Given the description of an element on the screen output the (x, y) to click on. 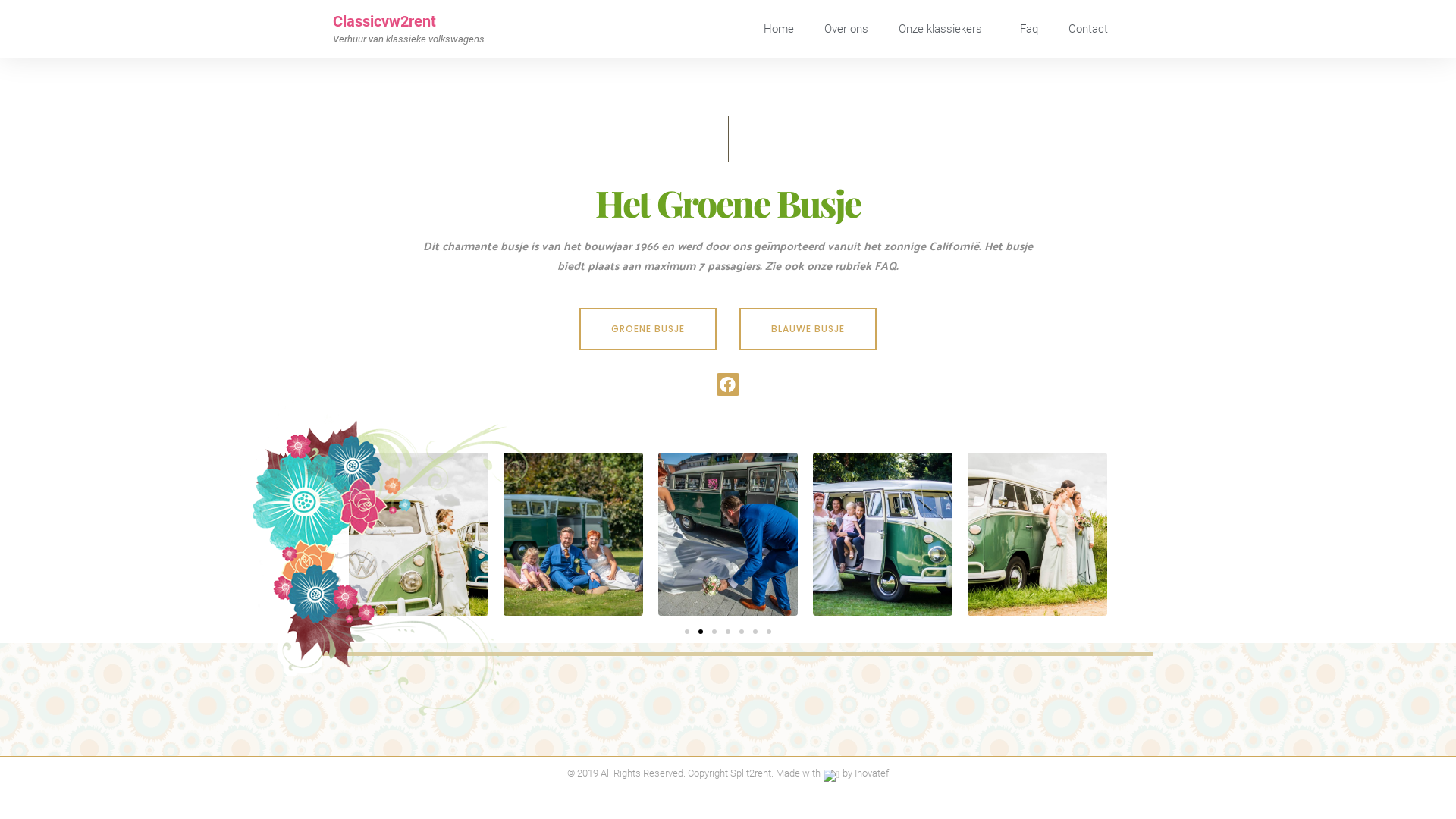
Inovatef Element type: text (871, 772)
Over ons Element type: text (846, 28)
Contact Element type: text (1088, 28)
Home Element type: text (778, 28)
GROENE BUSJE Element type: text (647, 328)
Classicvw2rent Element type: text (384, 21)
Faq Element type: text (1028, 28)
Onze klassiekers Element type: text (943, 28)
BLAUWE BUSJE Element type: text (807, 328)
